Given the description of an element on the screen output the (x, y) to click on. 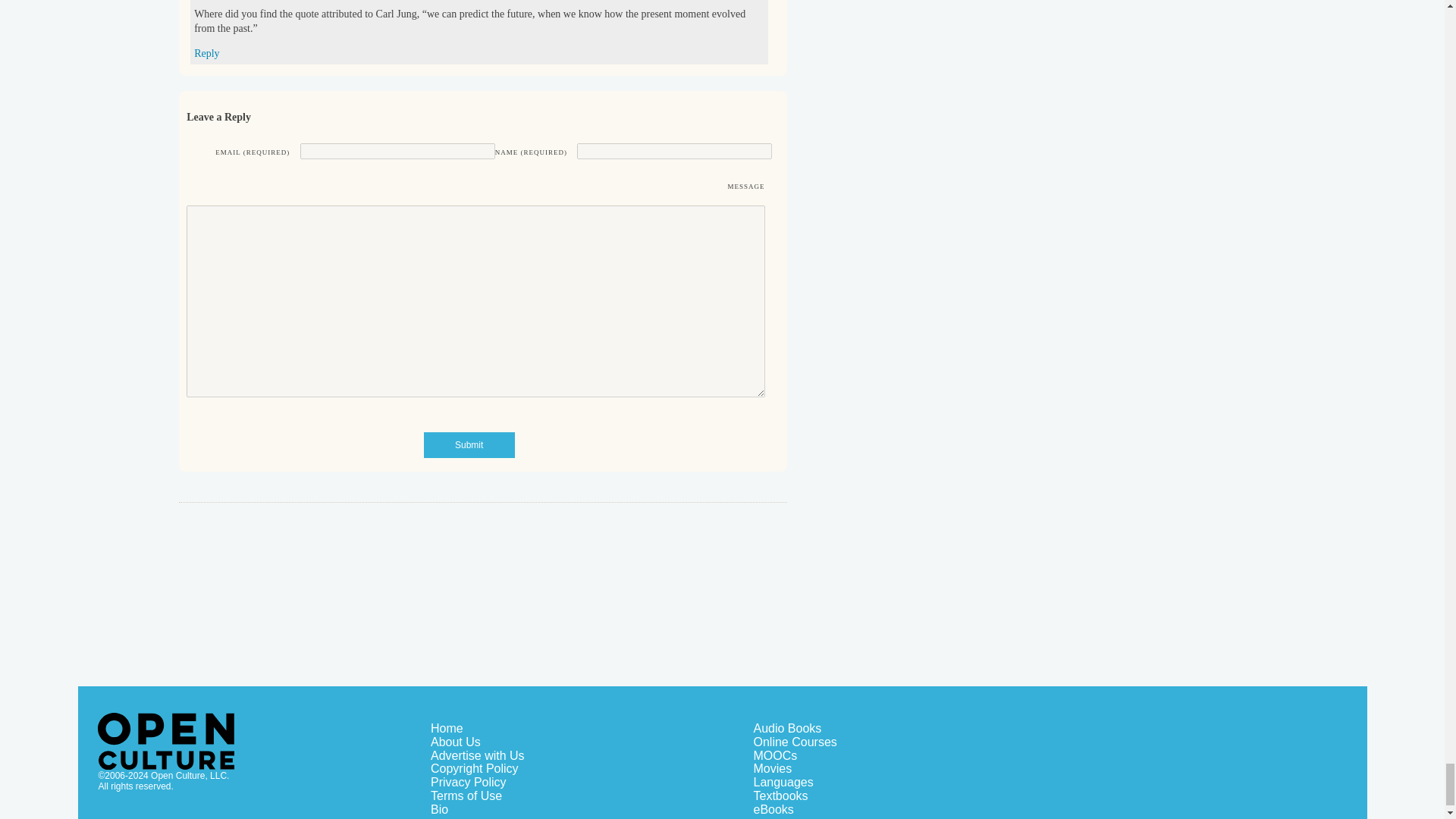
Submit (469, 444)
